Given the description of an element on the screen output the (x, y) to click on. 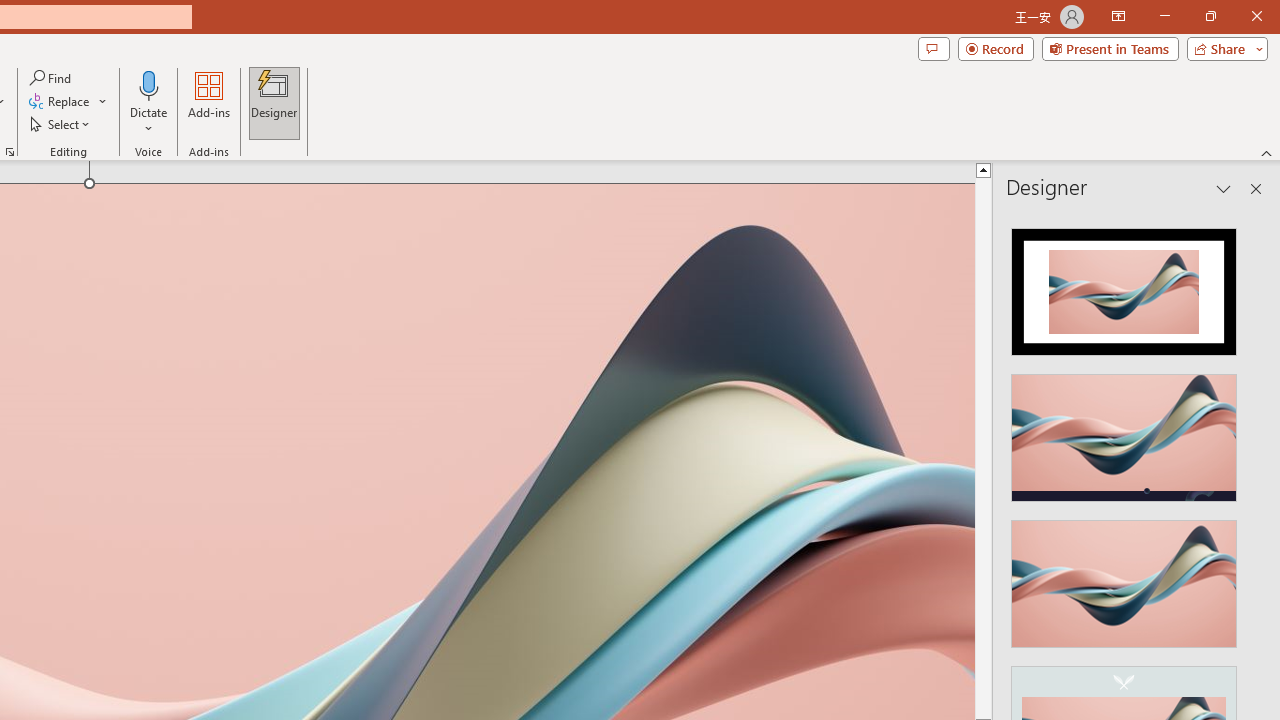
Recommended Design: Design Idea (1124, 286)
